Given the description of an element on the screen output the (x, y) to click on. 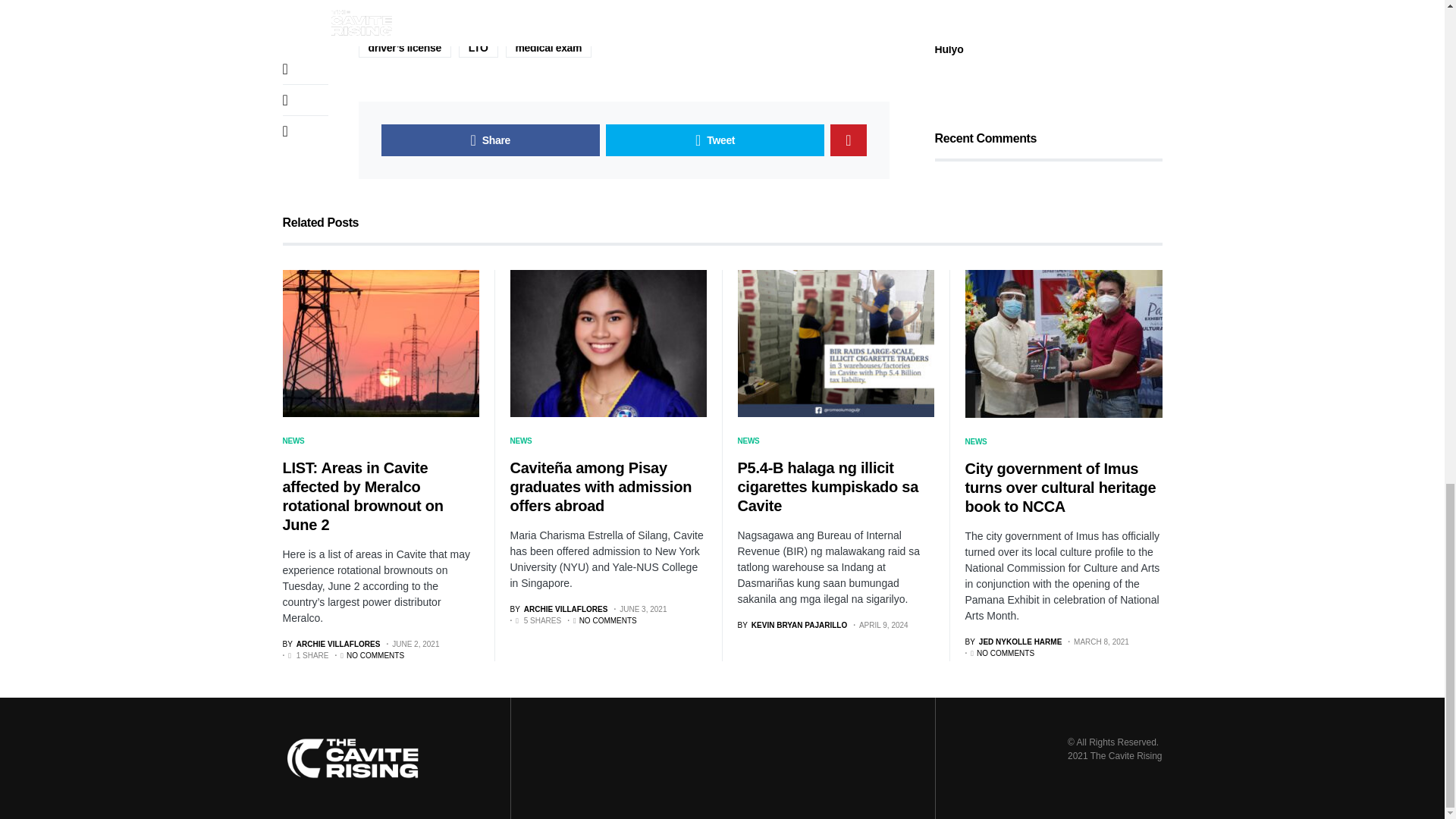
View all posts by Kevin Bryan Pajarillo (791, 624)
View all posts by Archie Villaflores (558, 609)
View all posts by Archie Villaflores (331, 644)
View all posts by Jed Nykolle Harme (1012, 641)
